Given the description of an element on the screen output the (x, y) to click on. 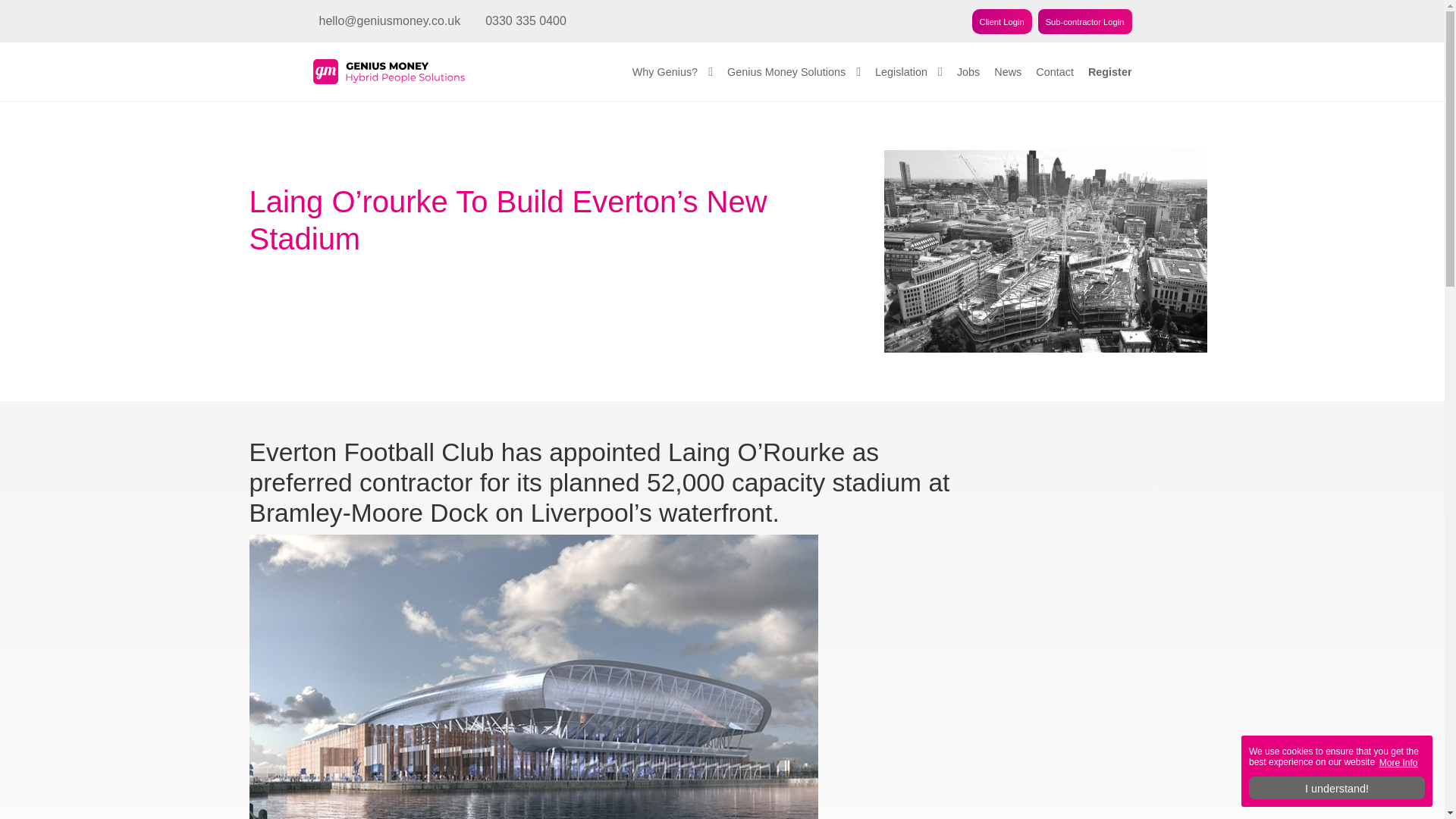
More Info (1397, 762)
Client Login (1002, 21)
Why Genius? (672, 71)
facebook-iframe (1085, 628)
Genius Money Solutions (793, 71)
Sub-contractor Login (1084, 21)
I understand! (1337, 787)
0330 335 0400 (522, 20)
